Given the description of an element on the screen output the (x, y) to click on. 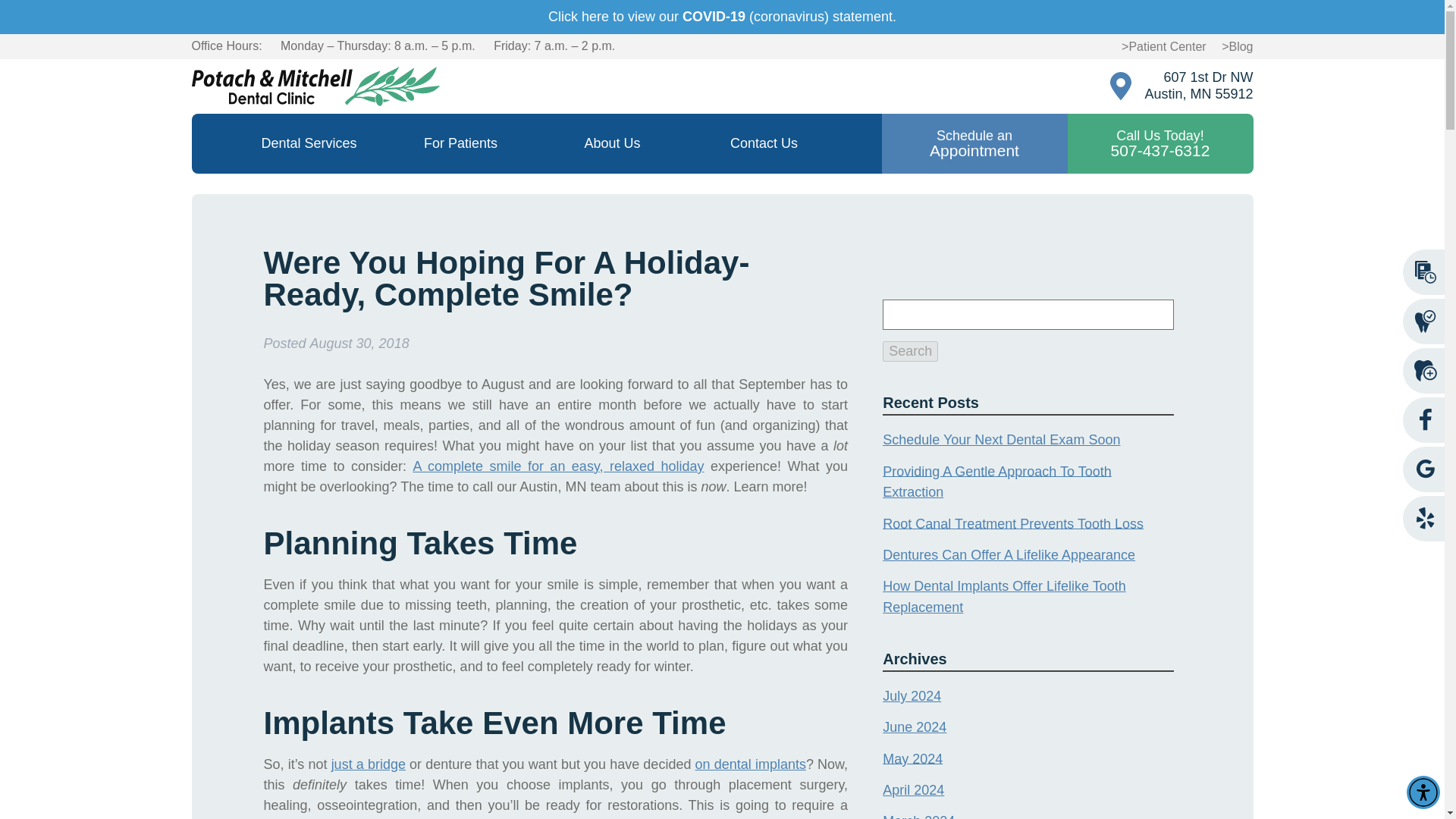
Accessibility Menu (1422, 792)
